Given the description of an element on the screen output the (x, y) to click on. 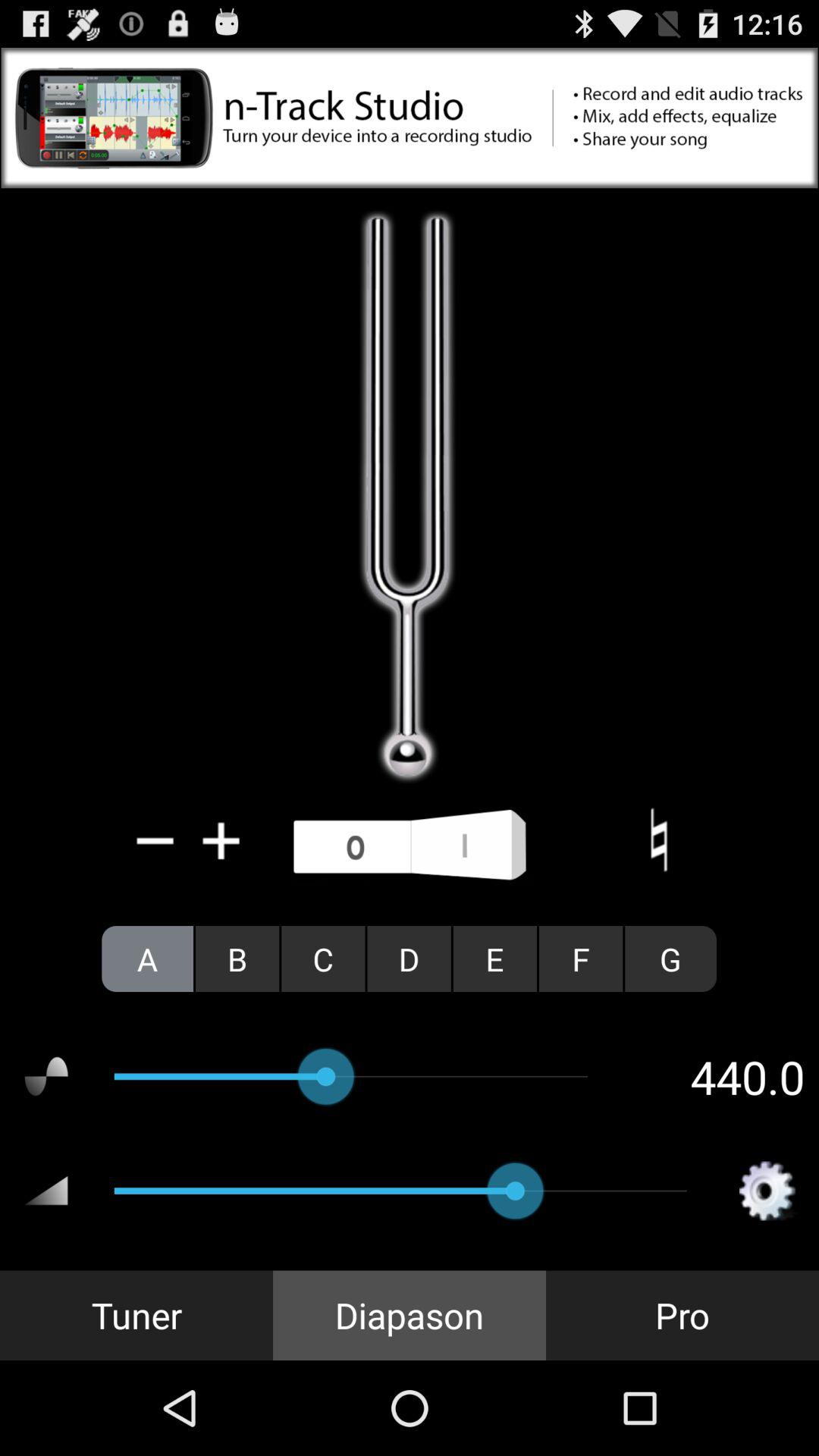
choose the icon next to the c radio button (409, 958)
